Given the description of an element on the screen output the (x, y) to click on. 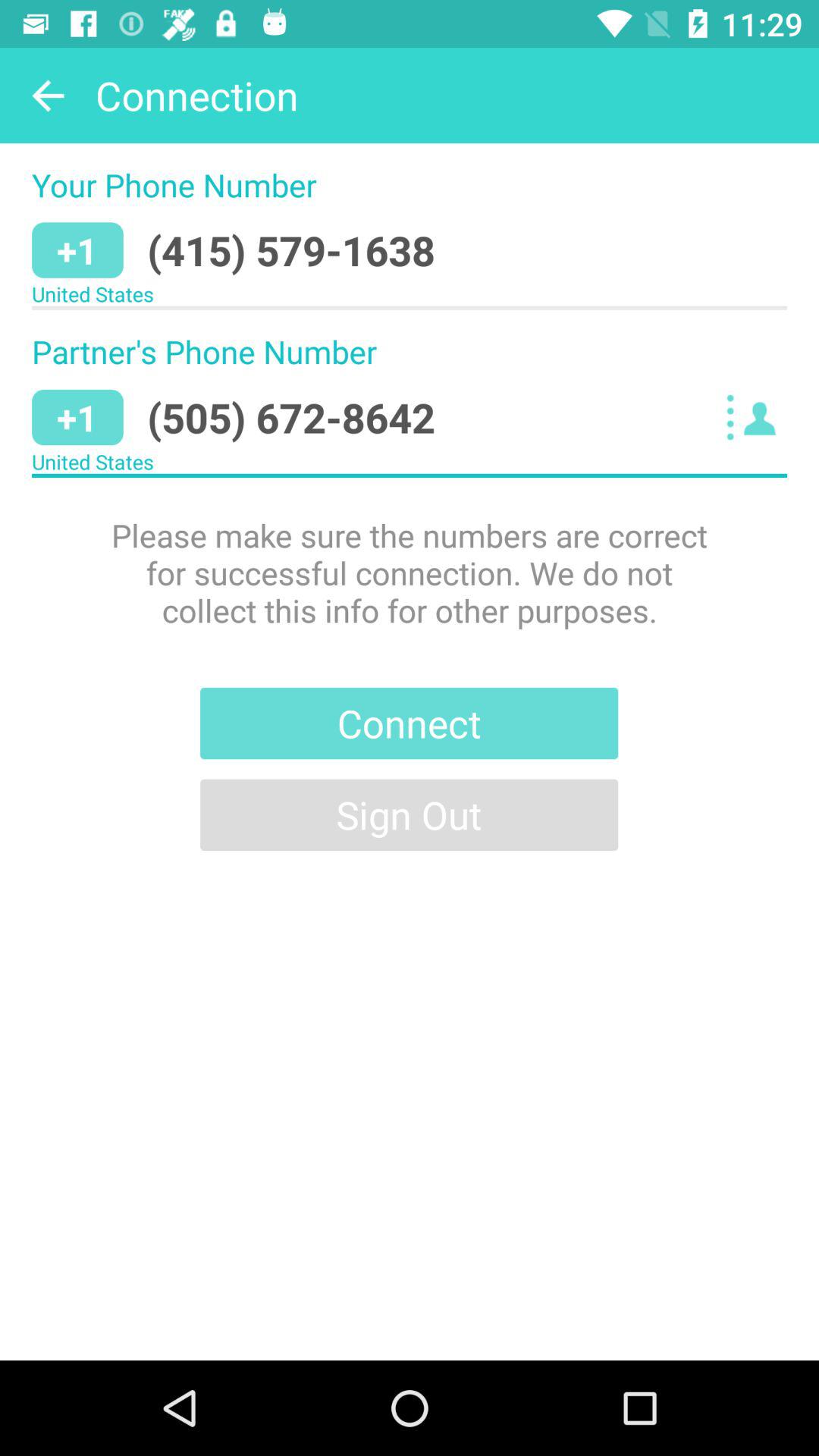
swipe to the sign out (409, 814)
